Given the description of an element on the screen output the (x, y) to click on. 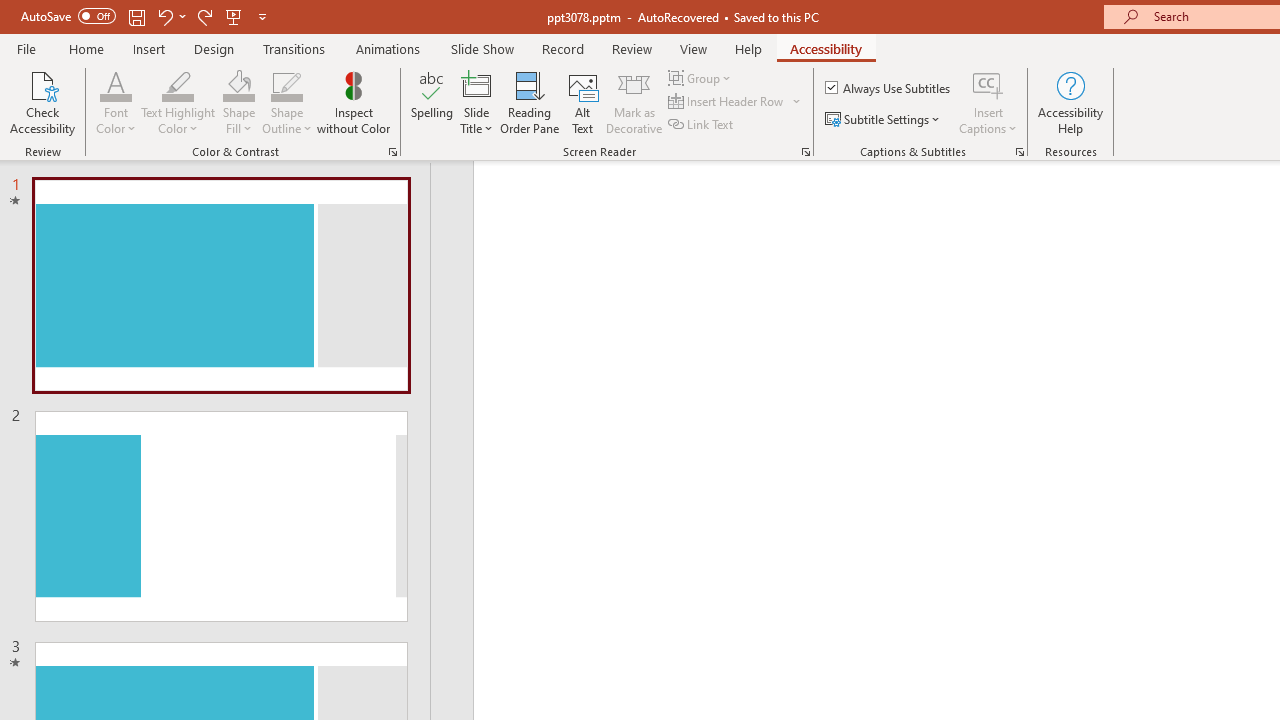
Mark as Decorative (634, 102)
Captions & Subtitles (1019, 151)
Link Text (702, 124)
Reading Order Pane (529, 102)
Accessibility Help (1070, 102)
